Given the description of an element on the screen output the (x, y) to click on. 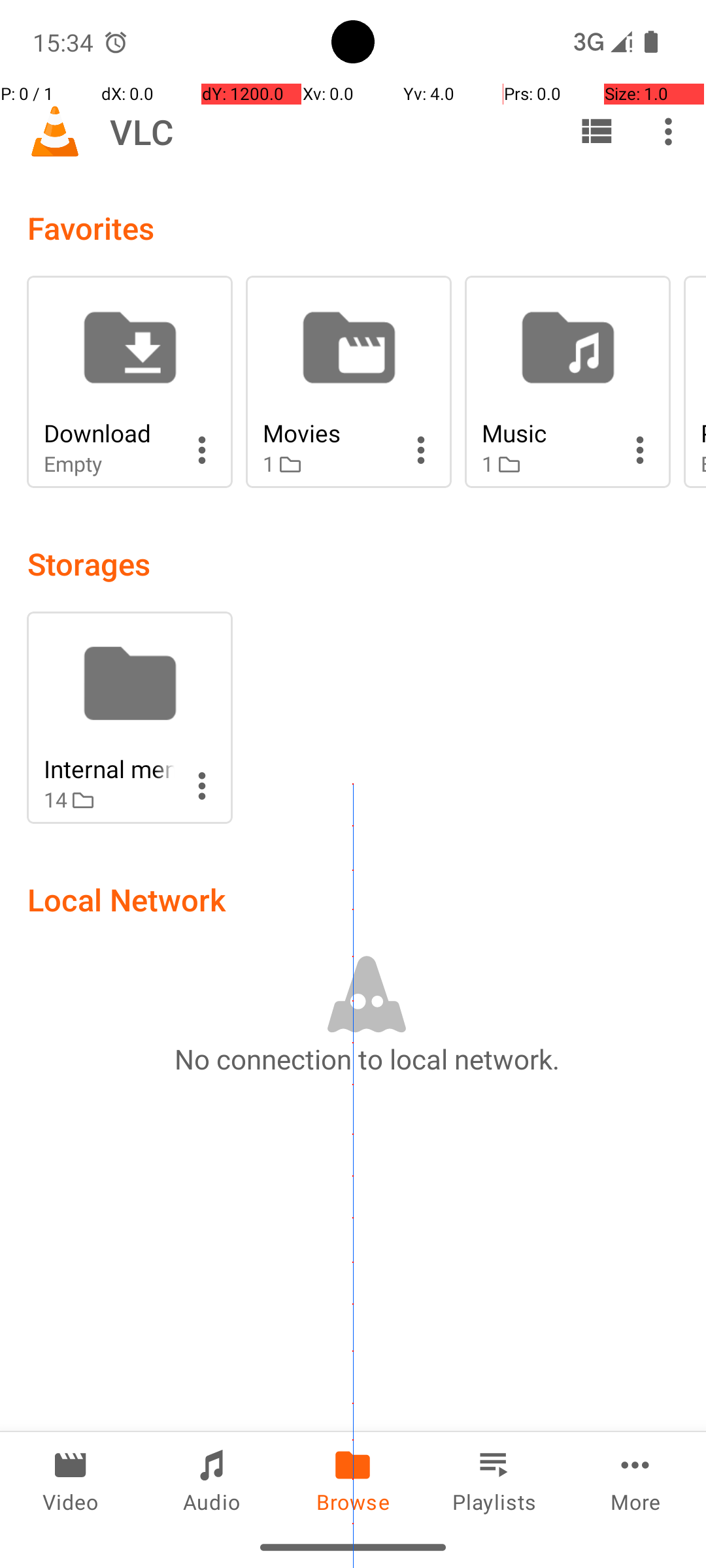
Favorite: Podcasts, Empty Element type: androidx.cardview.widget.CardView (694, 381)
Folder: Internal memory, 14 subfolders Element type: androidx.cardview.widget.CardView (129, 717)
14 §*§ Element type: android.widget.TextView (108, 799)
